Given the description of an element on the screen output the (x, y) to click on. 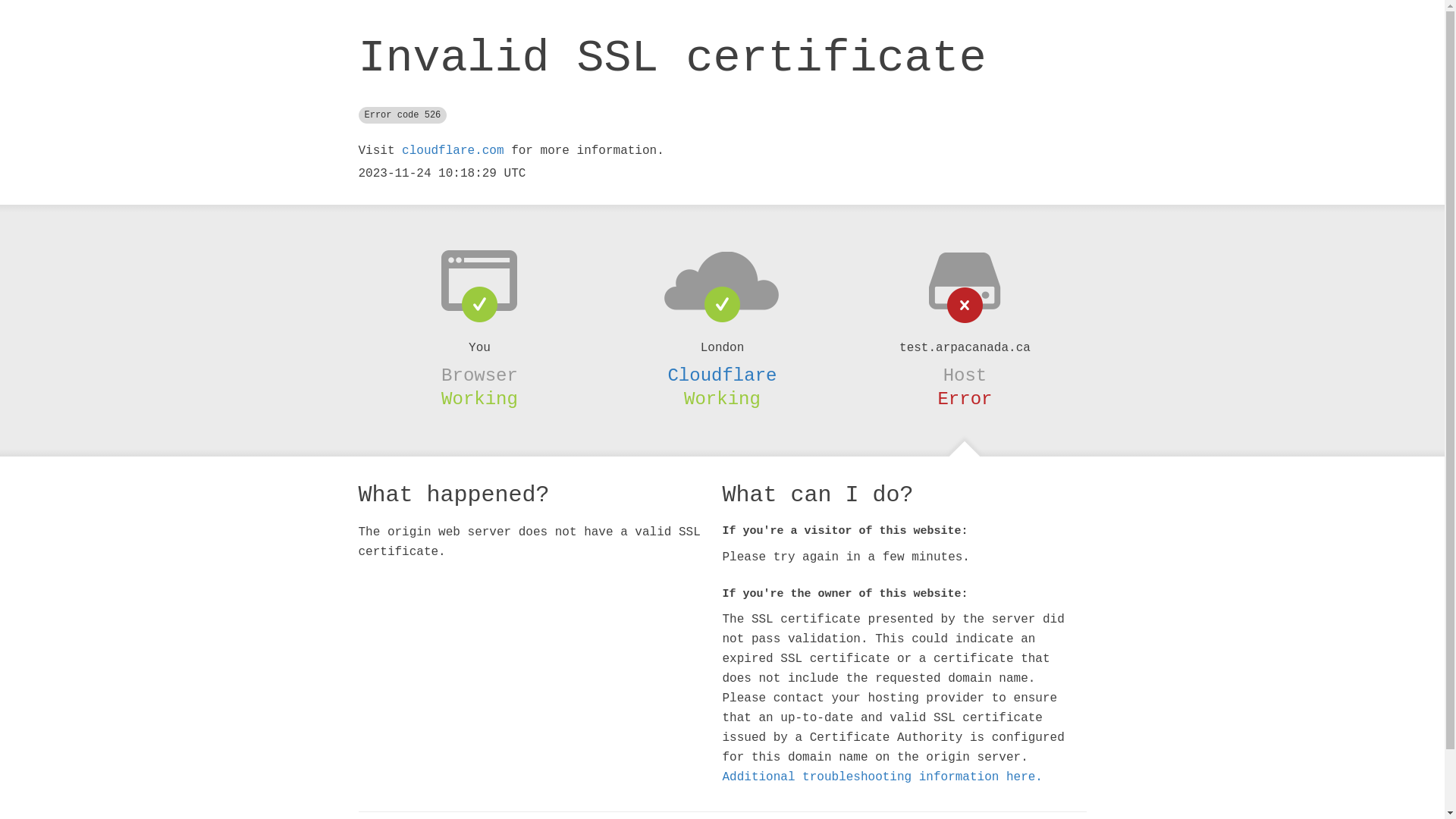
cloudflare.com Element type: text (452, 150)
Cloudflare Element type: text (721, 375)
Additional troubleshooting information here. Element type: text (881, 777)
